Given the description of an element on the screen output the (x, y) to click on. 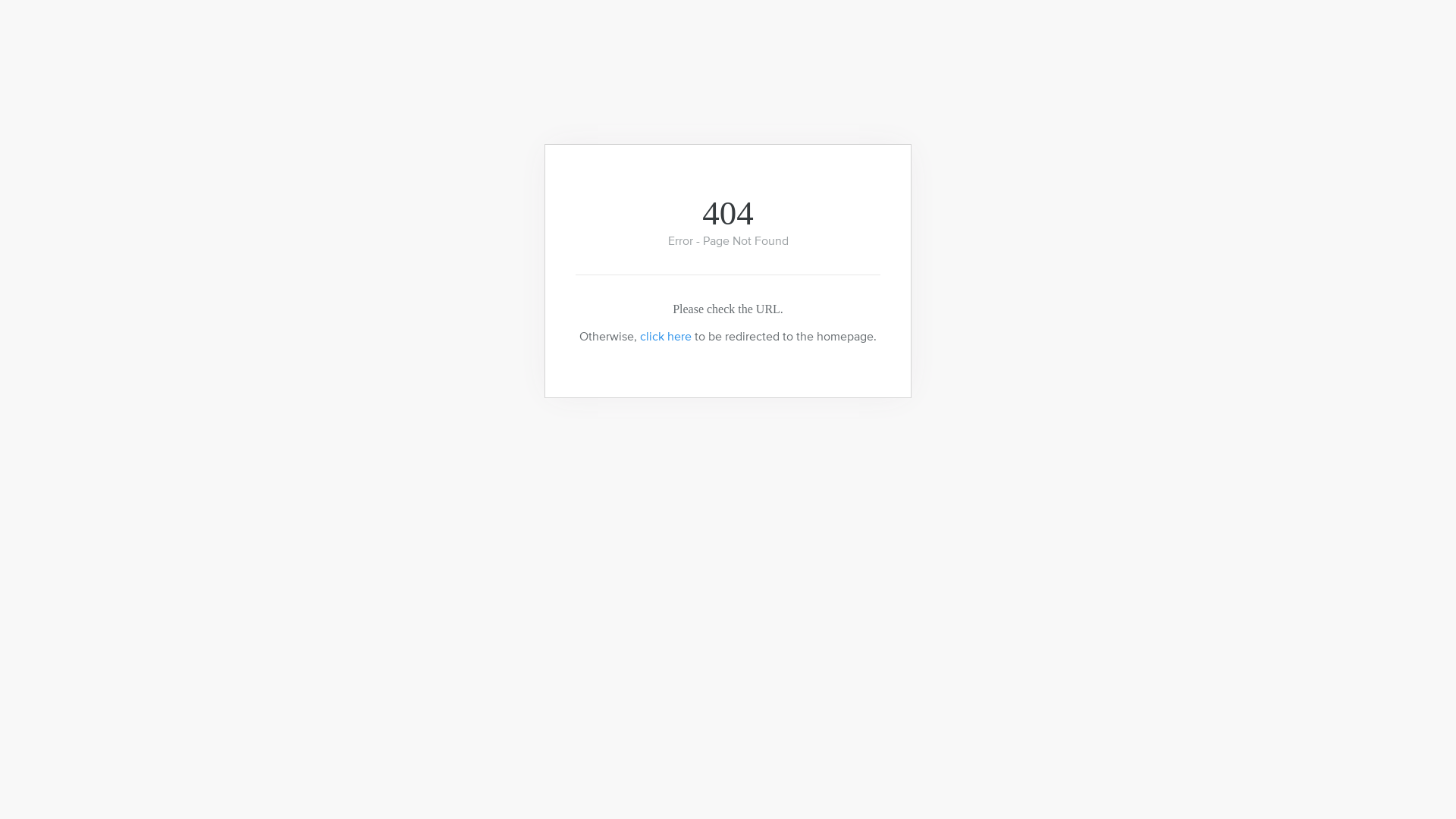
click here Element type: text (665, 335)
